Given the description of an element on the screen output the (x, y) to click on. 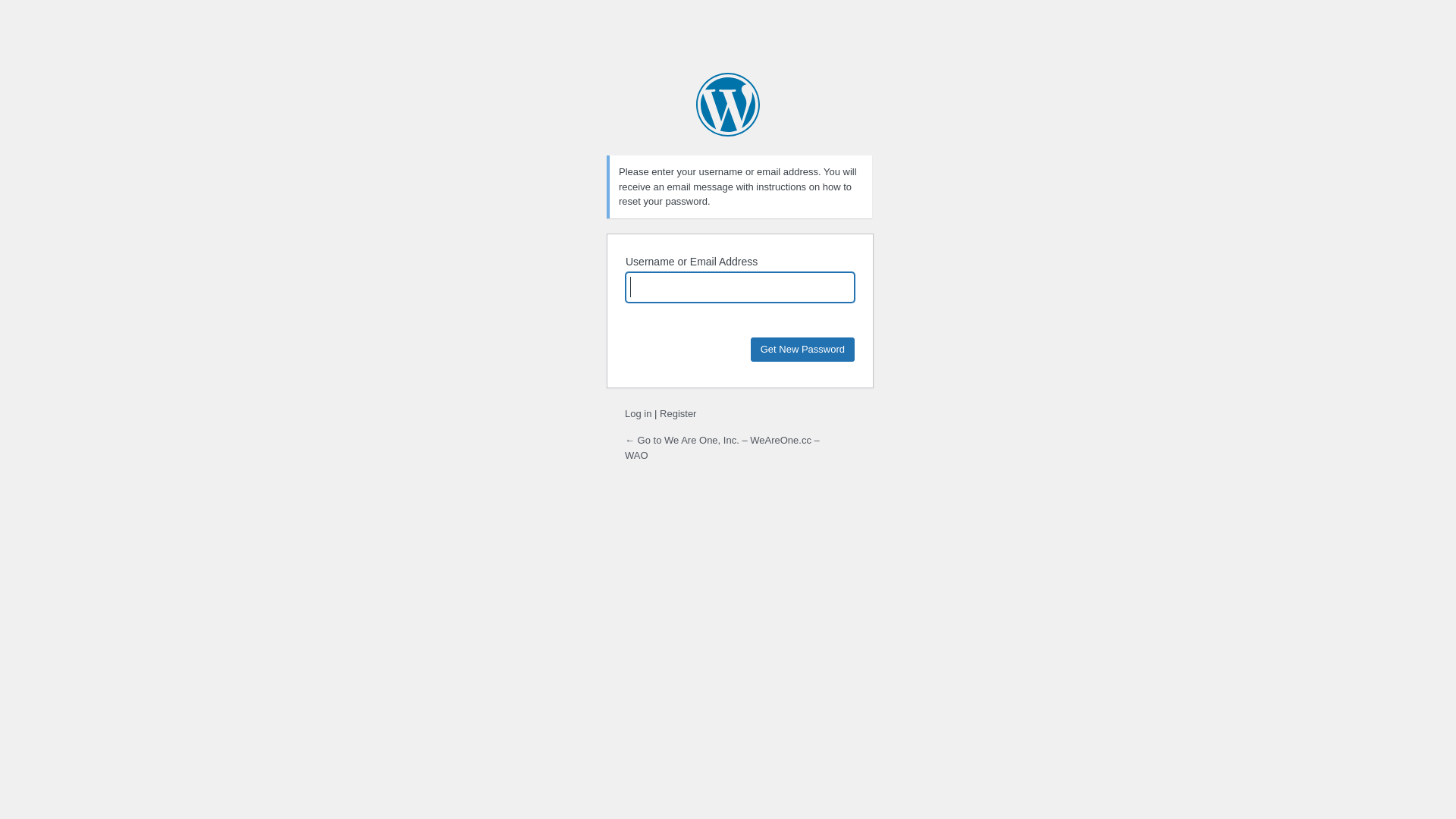
Get New Password Element type: text (802, 348)
Log in Element type: text (637, 413)
Register Element type: text (677, 413)
Powered by WordPress Element type: text (727, 104)
